Given the description of an element on the screen output the (x, y) to click on. 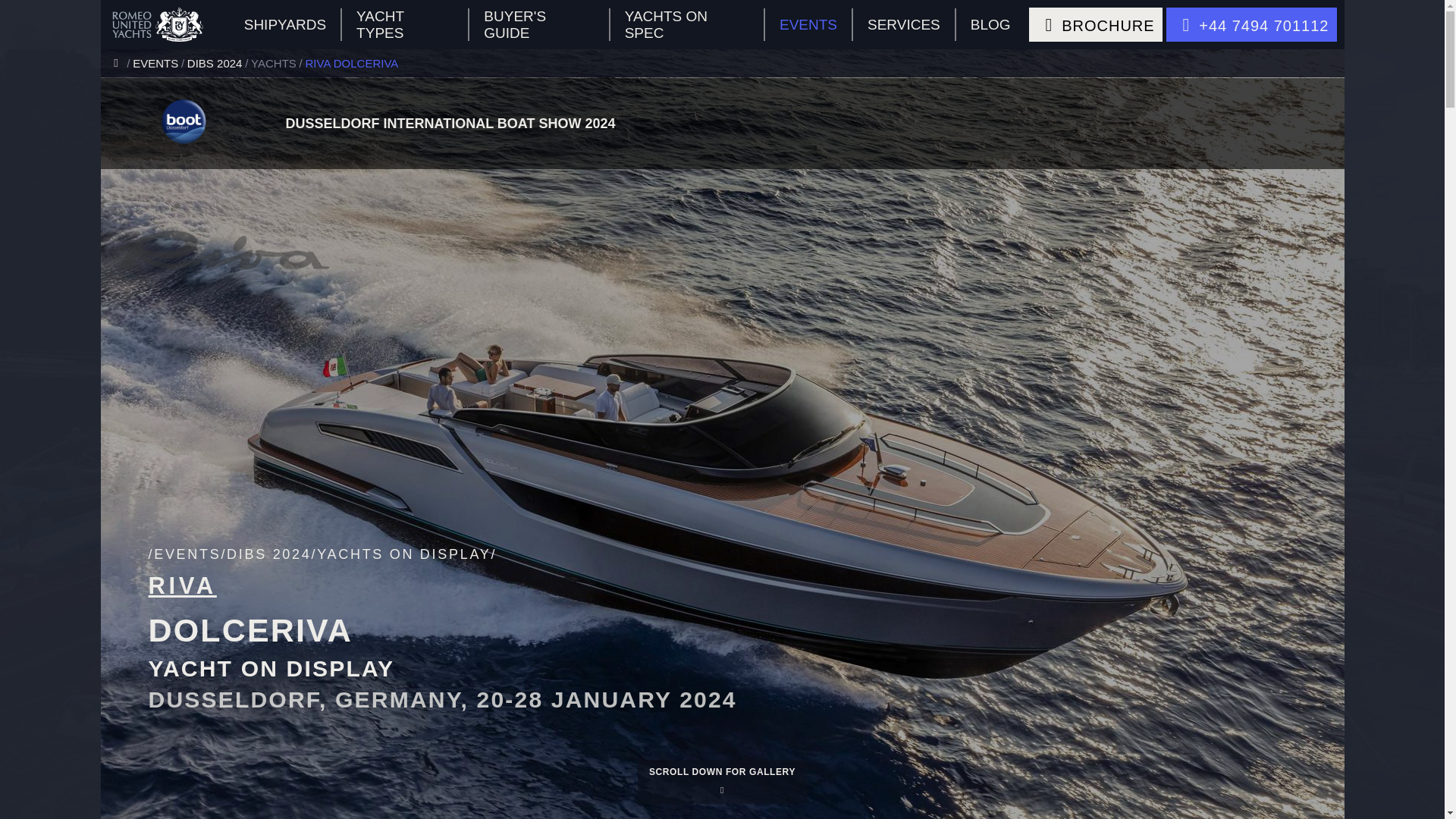
DIBS 2024 (218, 62)
SERVICES (903, 24)
YACHT TYPES (405, 24)
YACHTS ON SPEC (687, 24)
DUSSELDORF INTERNATIONAL BOAT SHOW 2024 (804, 123)
RIVA (182, 585)
SCROLL DOWN FOR GALLERY (722, 781)
SCROLL DOWN FOR GALLERY (721, 781)
SCROLL DOWN FOR GALLERY (721, 781)
BLOG (990, 24)
BUYER'S GUIDE (539, 24)
SHIPYARDS (286, 24)
EVENTS (809, 24)
EVENTS (159, 62)
